Given the description of an element on the screen output the (x, y) to click on. 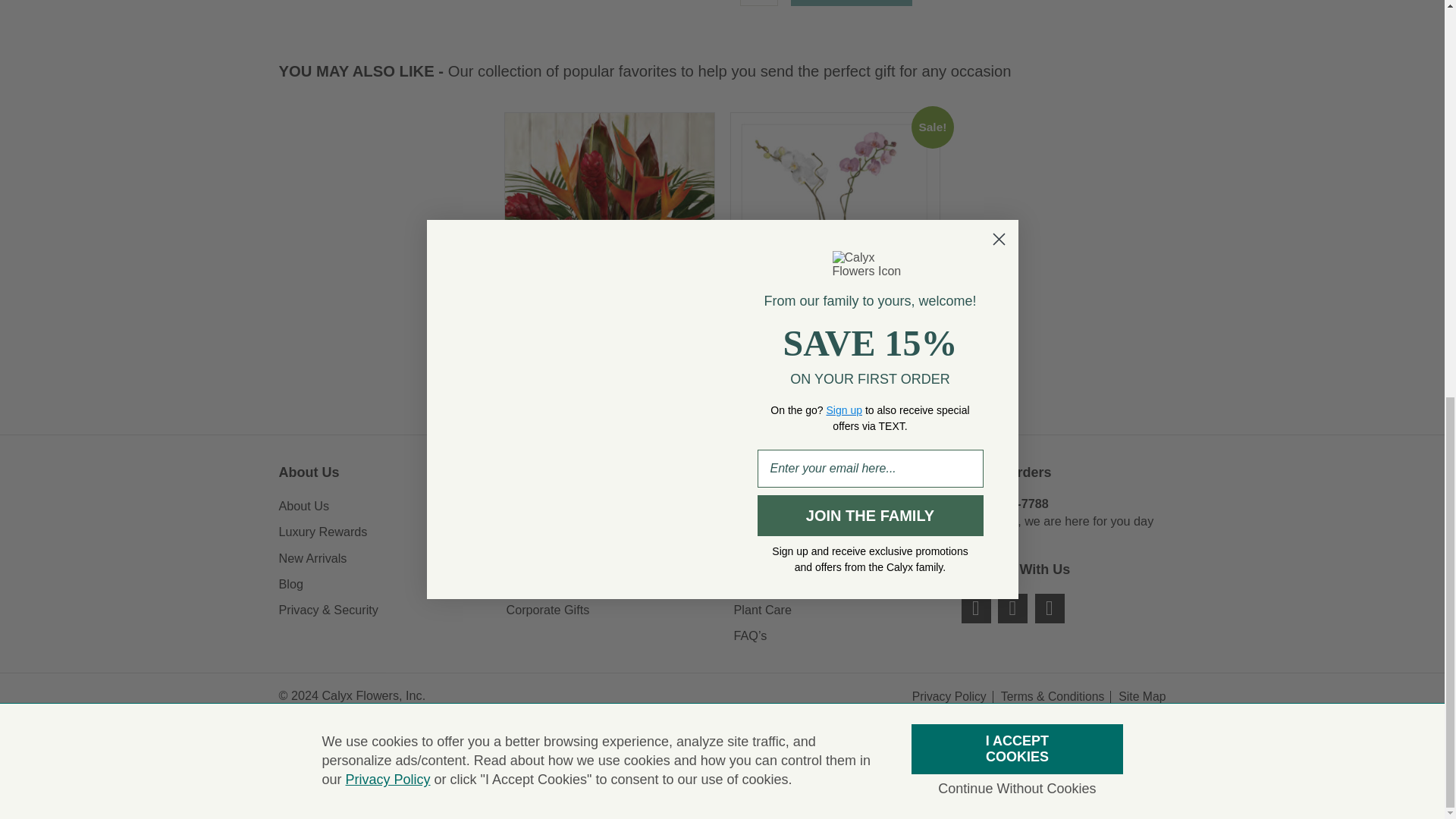
1 (758, 2)
